Given the description of an element on the screen output the (x, y) to click on. 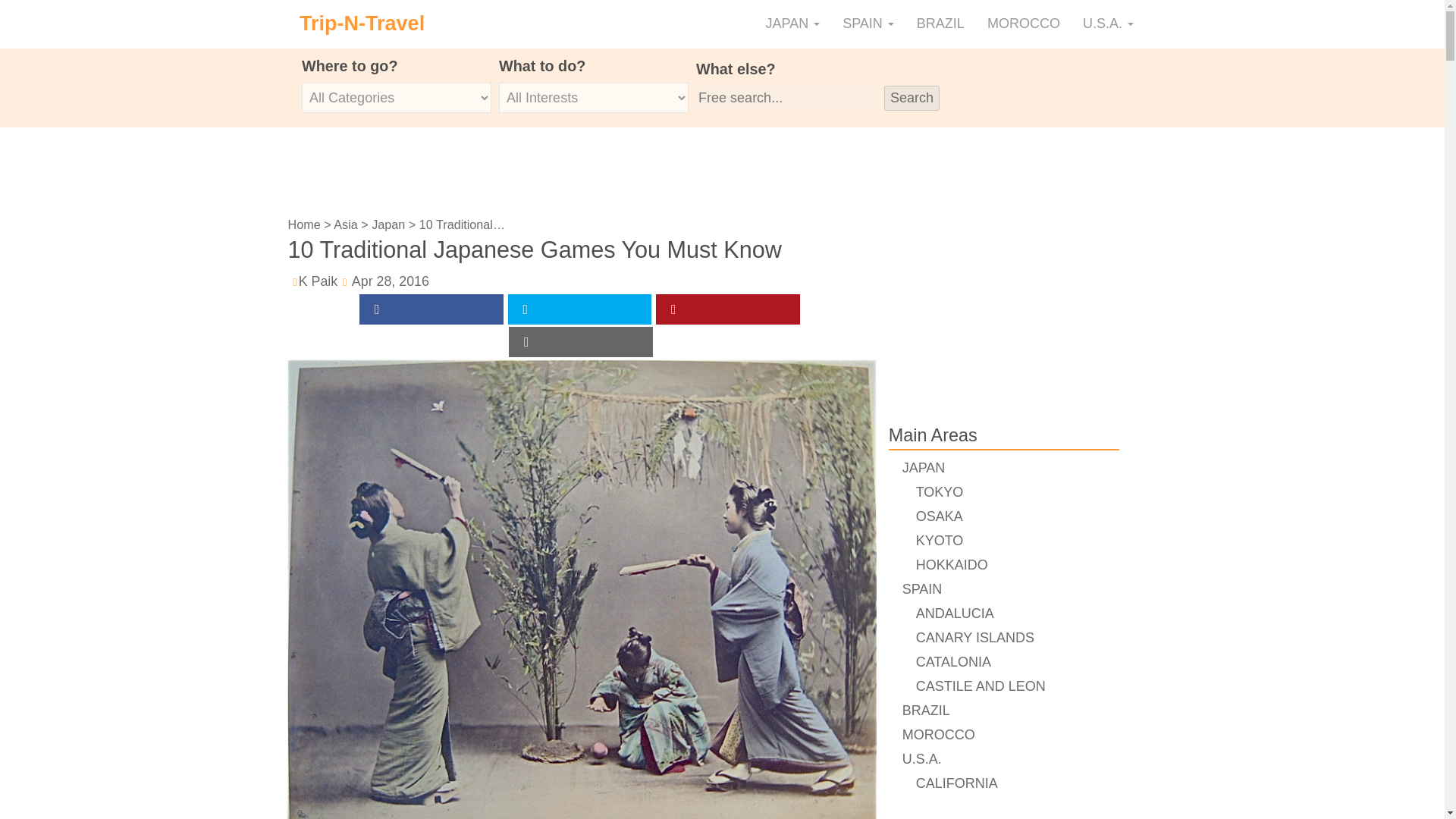
U.S.A. (1107, 24)
Search (911, 97)
U.S.A. (1107, 24)
SPAIN (868, 24)
BRAZIL (940, 24)
Search (911, 97)
Asia (345, 223)
Trip-N-Travel (361, 23)
K Paik (317, 281)
BRAZIL (940, 24)
